Given the description of an element on the screen output the (x, y) to click on. 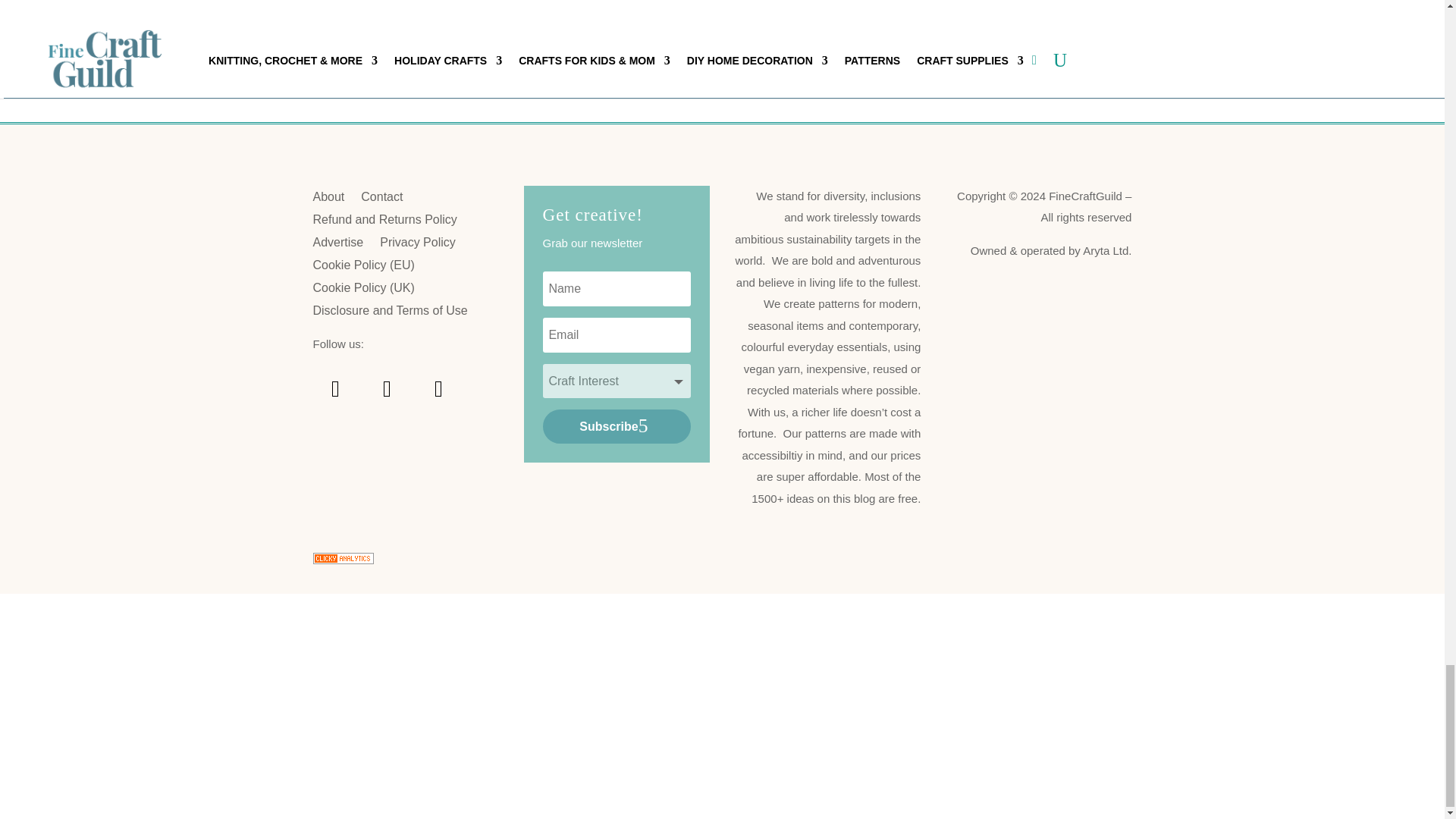
Follow on Pinterest (335, 388)
Follow on X (437, 388)
Follow on Facebook (386, 388)
